Given the description of an element on the screen output the (x, y) to click on. 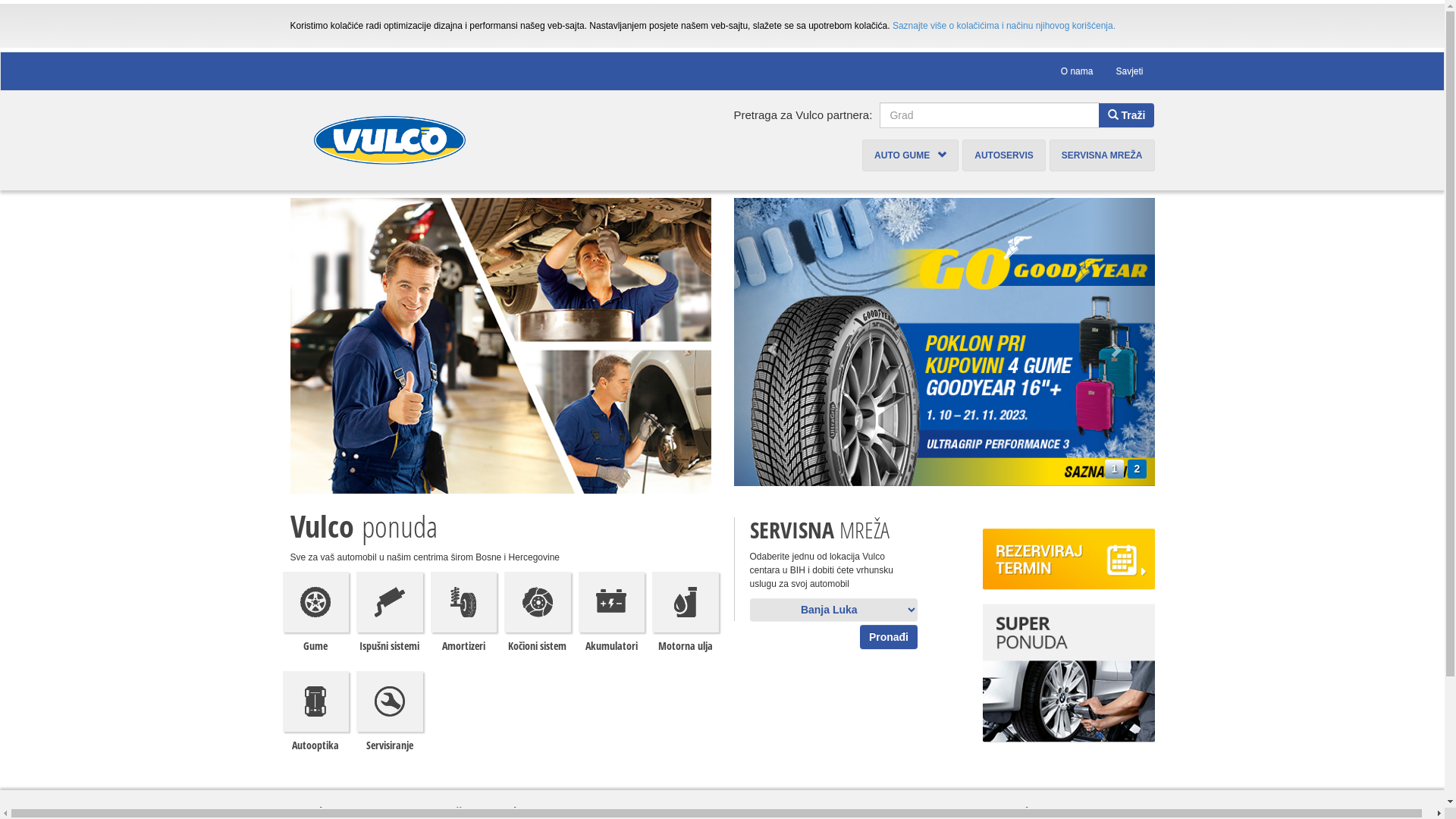
AUTO GUME   Element type: text (909, 155)
O nama Element type: text (1076, 71)
AUTOSERVIS Element type: text (1003, 155)
Savjeti Element type: text (1129, 71)
